Given the description of an element on the screen output the (x, y) to click on. 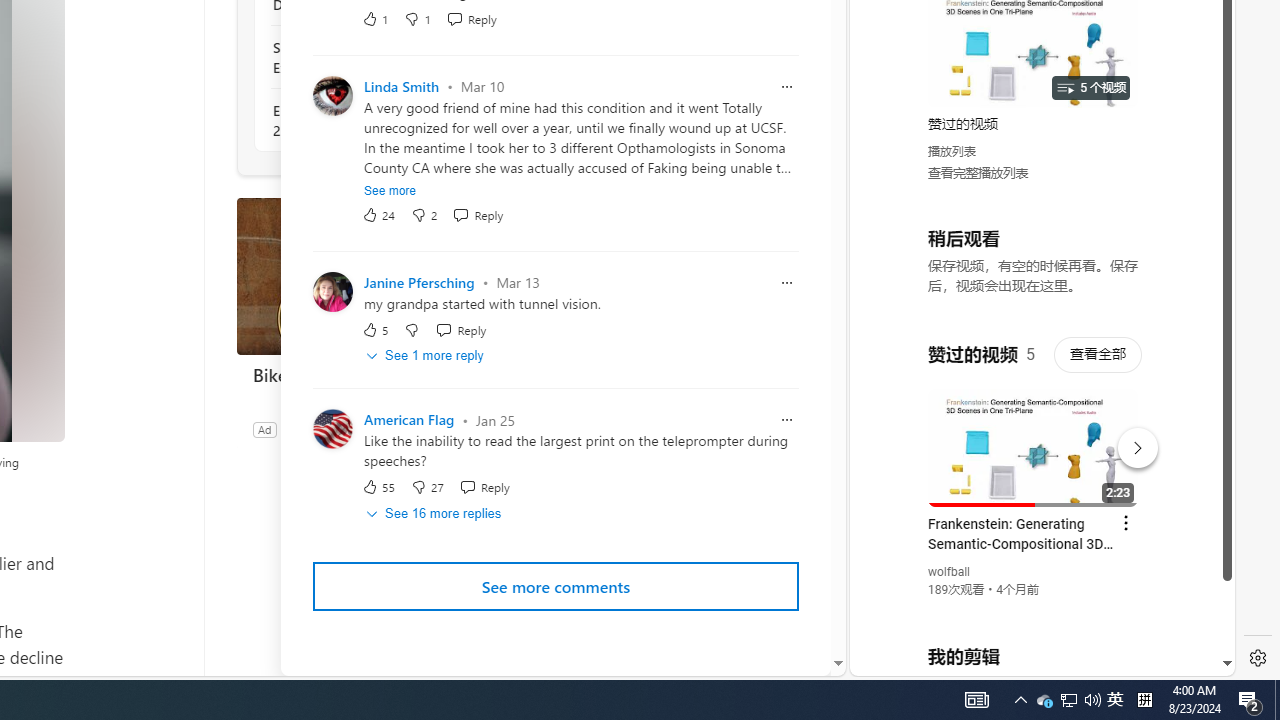
Report comment (786, 420)
24 Like (378, 214)
YouTube - YouTube (1034, 266)
See more comments (555, 587)
1 Like (375, 17)
Profile Picture (333, 429)
Click to scroll right (1196, 83)
Reply Reply Comment (484, 487)
